Given the description of an element on the screen output the (x, y) to click on. 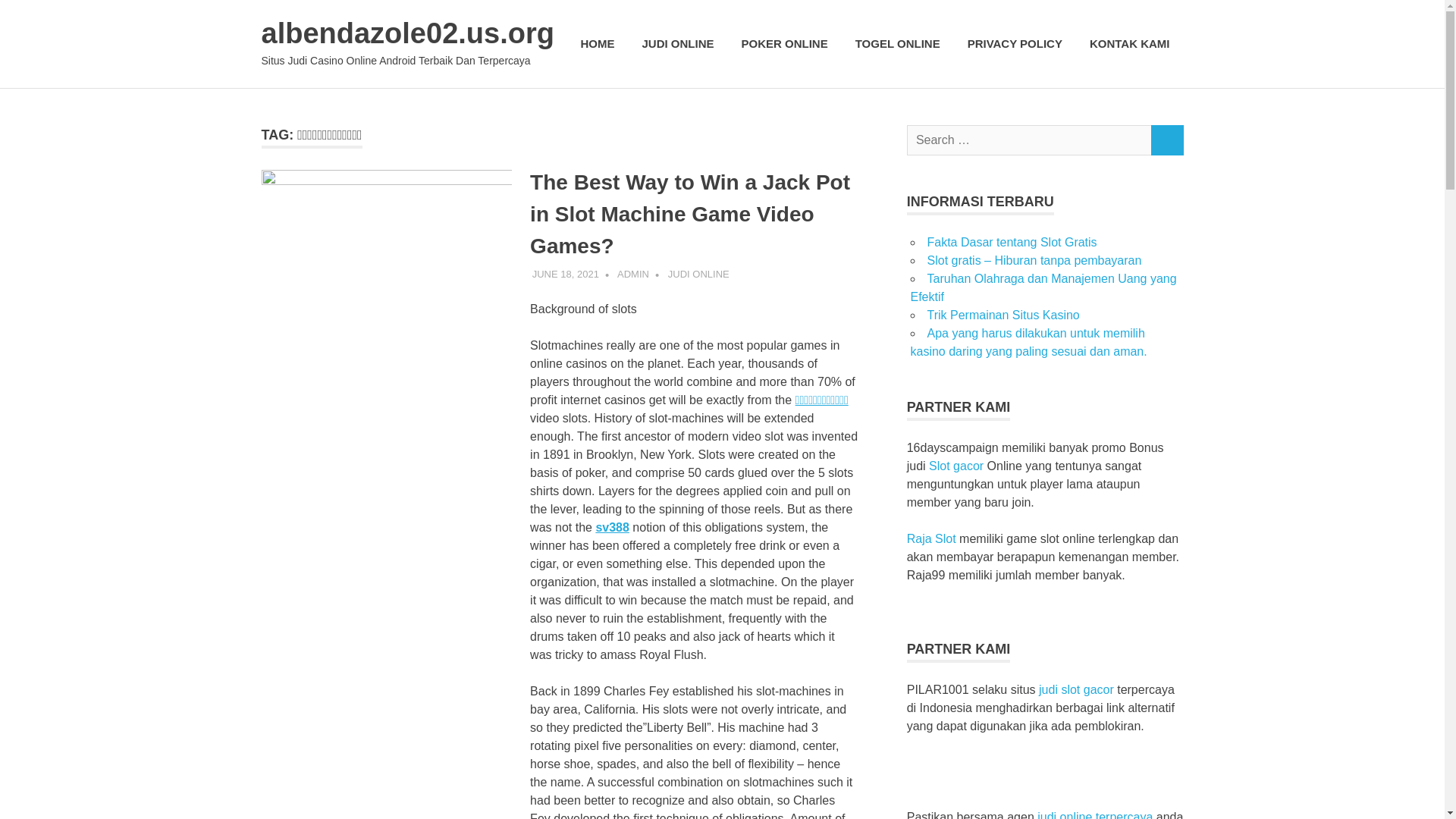
Taruhan Olahraga dan Manajemen Uang yang Efektif (1043, 287)
Slot gacor (956, 465)
SEARCH (1166, 140)
KONTAK KAMI (1129, 44)
Search for: (1029, 140)
Trik Permainan Situs Kasino (1002, 314)
Raja Slot (931, 538)
judi slot gacor (1076, 689)
JUNE 18, 2021 (565, 274)
